Given the description of an element on the screen output the (x, y) to click on. 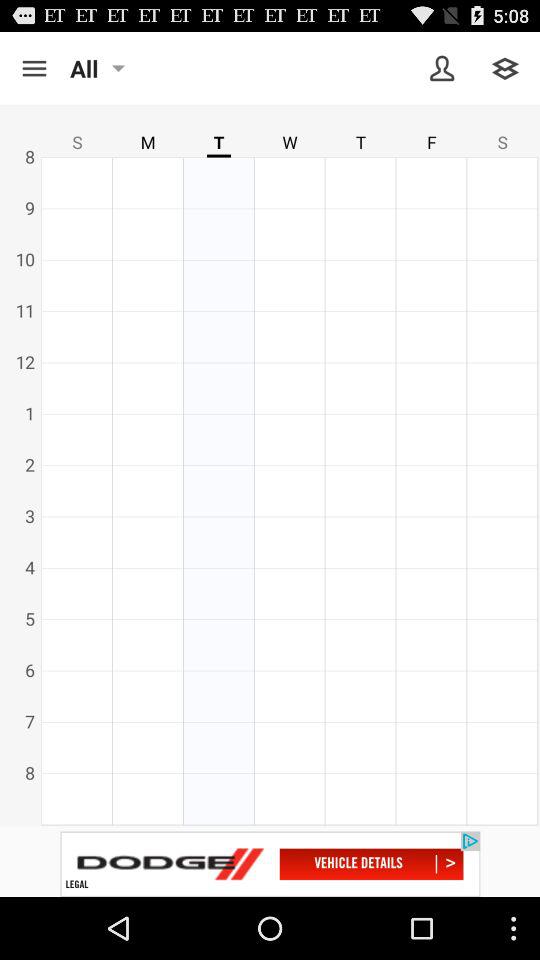
go to profile (442, 68)
